Given the description of an element on the screen output the (x, y) to click on. 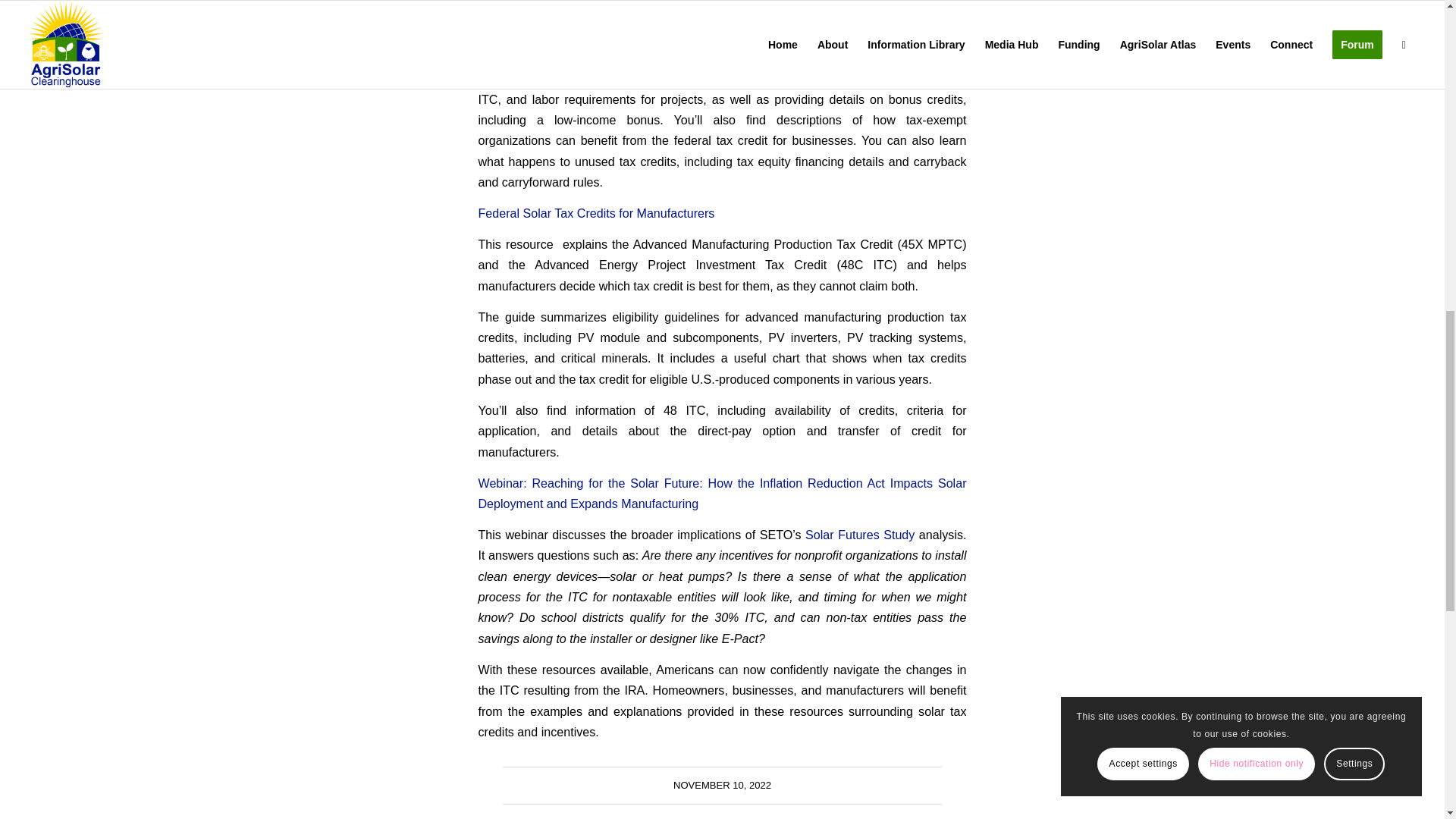
Federal Solar Tax Credits for Manufacturers (595, 213)
Solar Futures Study (859, 534)
